Given the description of an element on the screen output the (x, y) to click on. 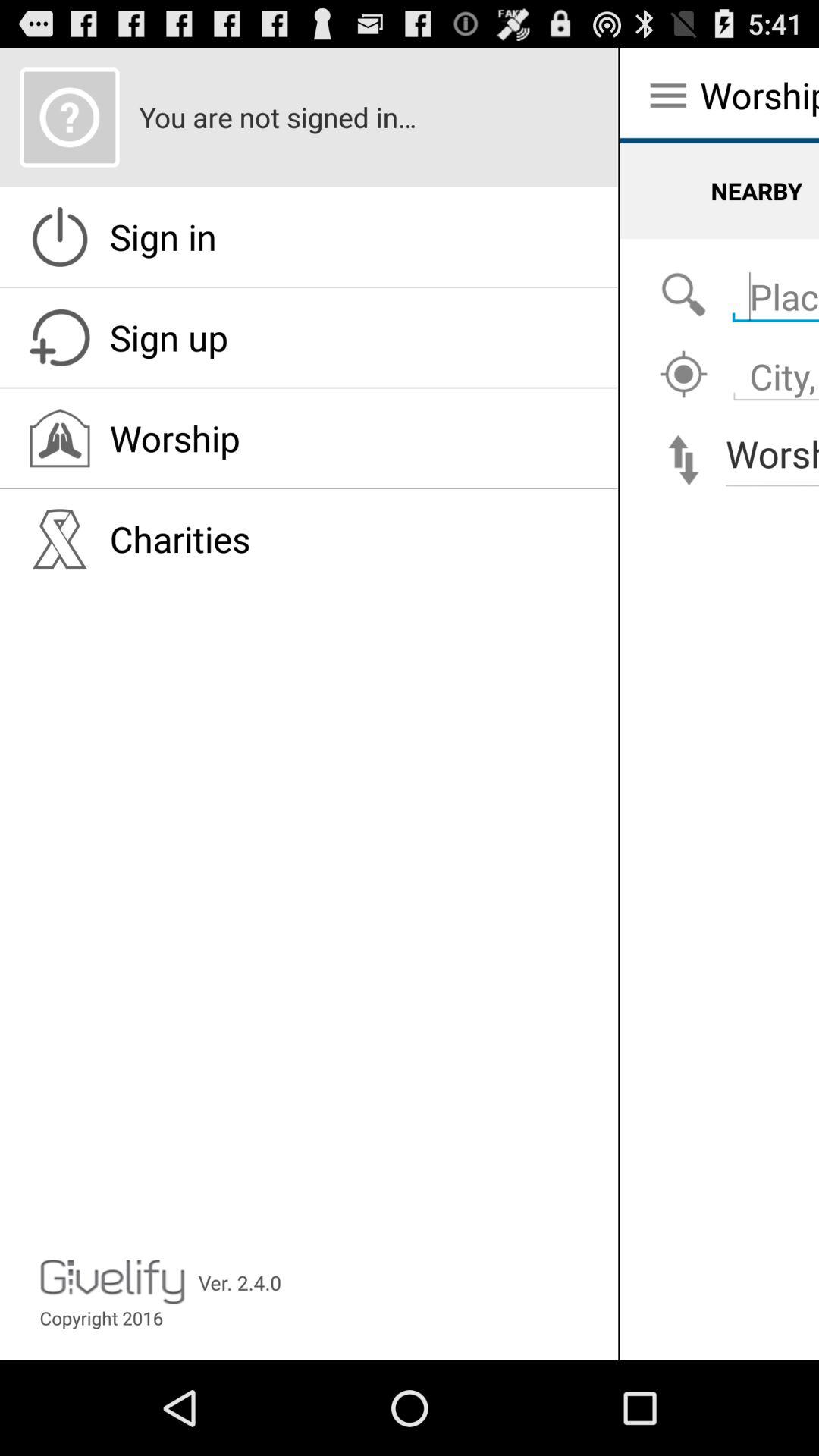
search places of worship (683, 295)
